Given the description of an element on the screen output the (x, y) to click on. 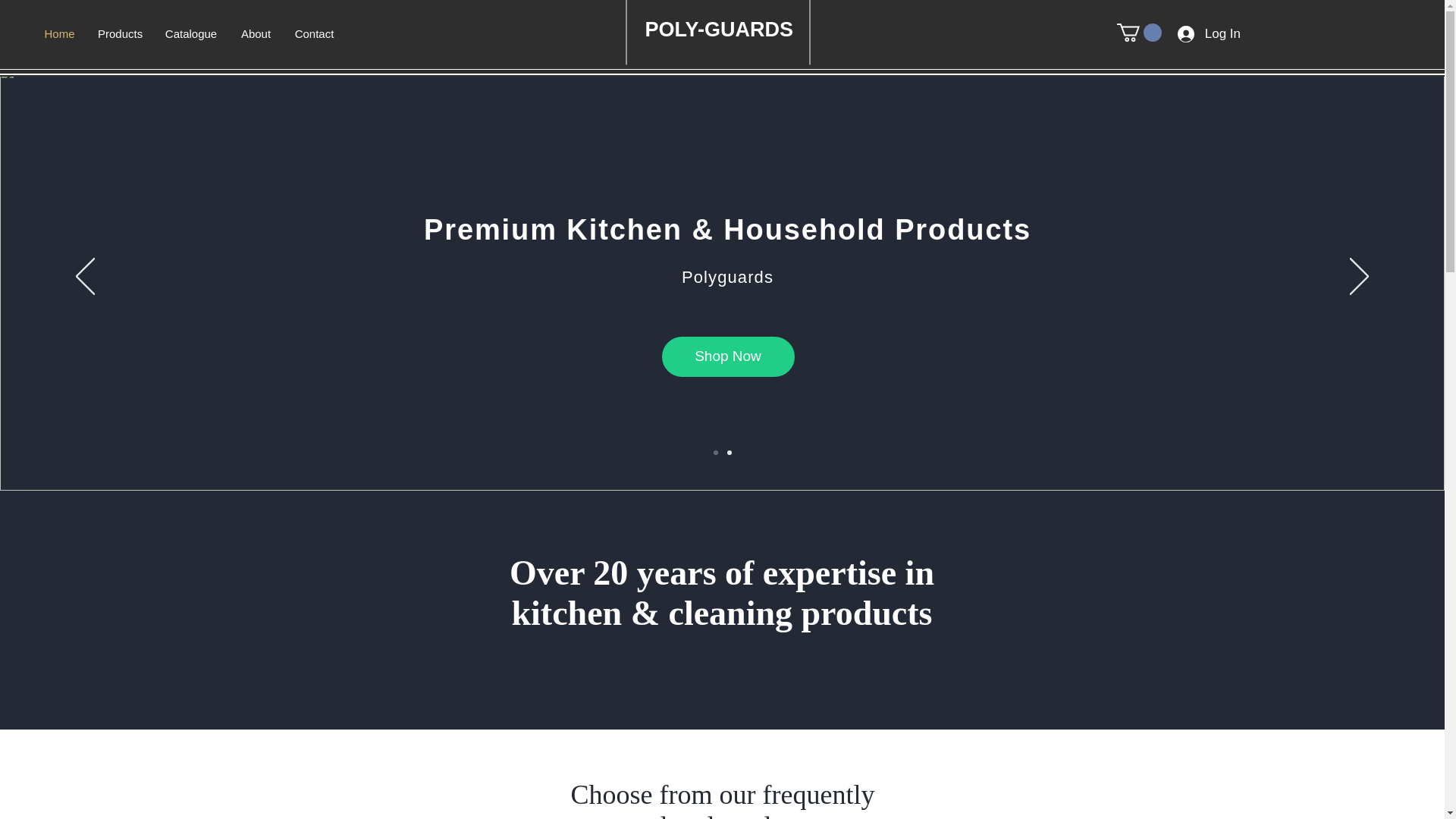
Log In (1208, 33)
About (255, 34)
Products (118, 34)
Contact (314, 34)
Home (58, 34)
Catalogue (190, 34)
Shop Now (727, 356)
POLY-GUARDS  (721, 29)
